Given the description of an element on the screen output the (x, y) to click on. 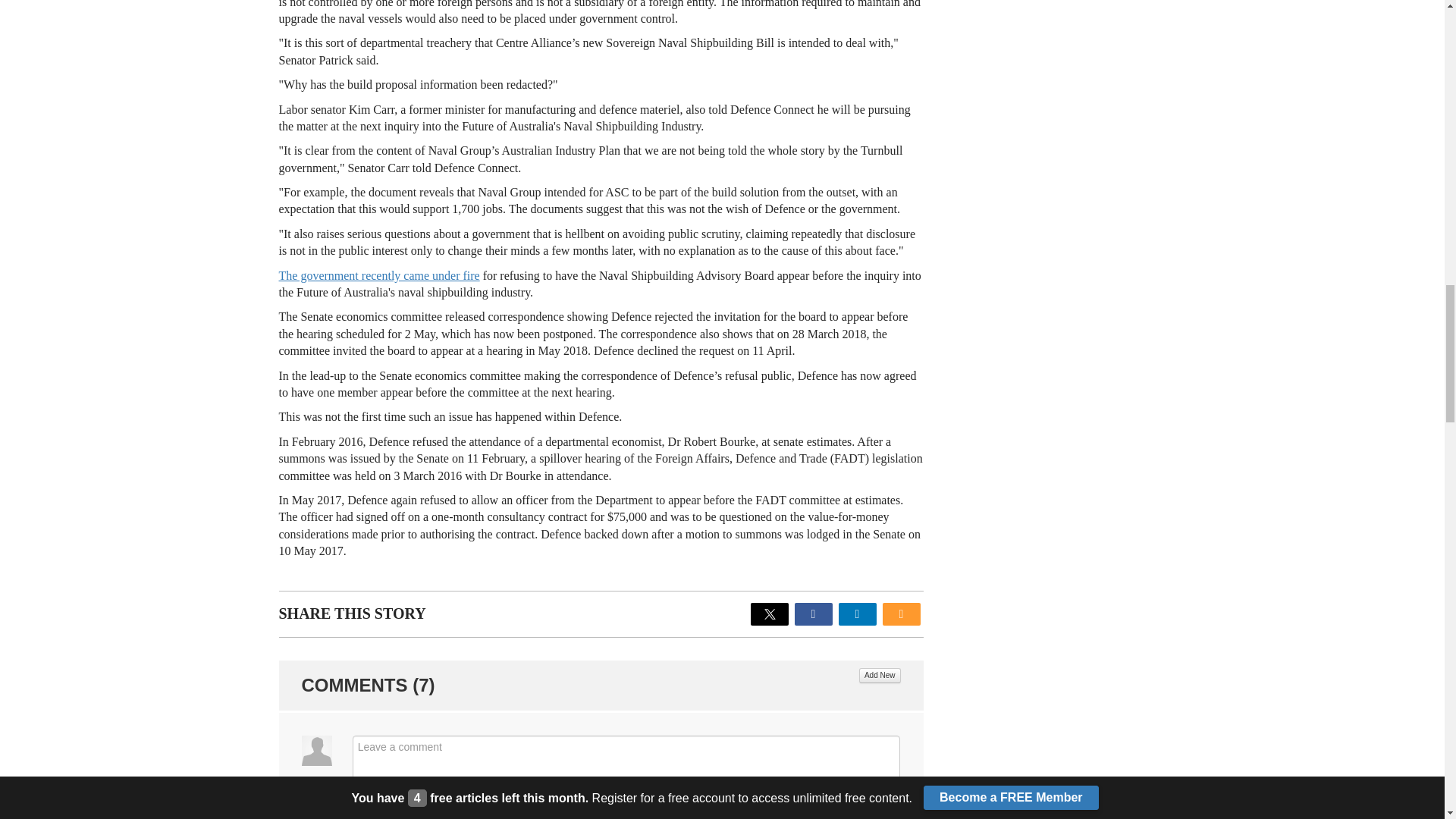
Add New (880, 674)
